Given the description of an element on the screen output the (x, y) to click on. 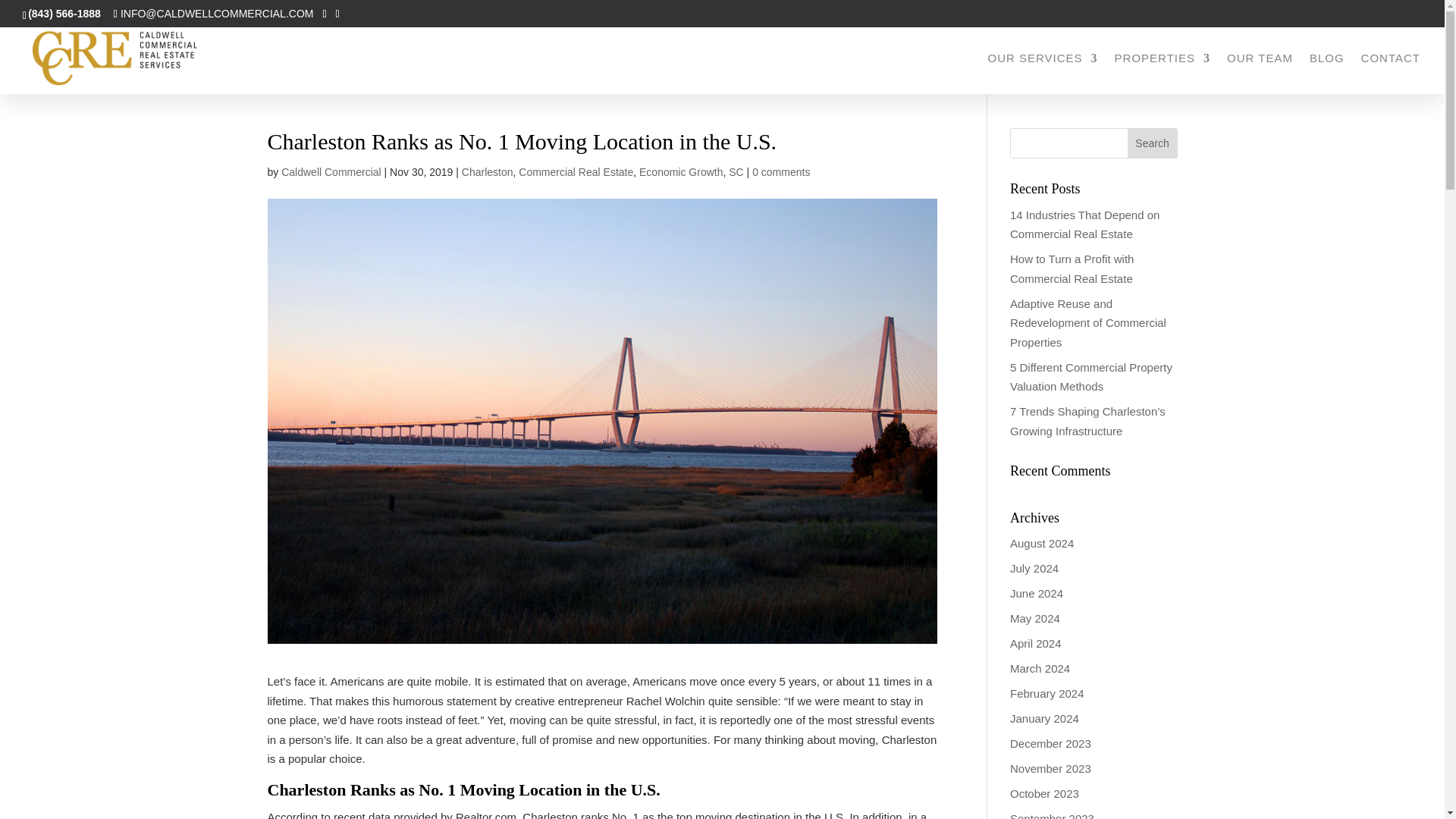
May 2024 (1034, 617)
PROPERTIES (1162, 73)
April 2024 (1035, 643)
OUR SERVICES (1042, 73)
March 2024 (1040, 667)
Search (1151, 142)
5 Different Commercial Property Valuation Methods (1091, 377)
Economic Growth (680, 172)
Adaptive Reuse and Redevelopment of Commercial Properties (1088, 322)
OUR TEAM (1259, 73)
